Given the description of an element on the screen output the (x, y) to click on. 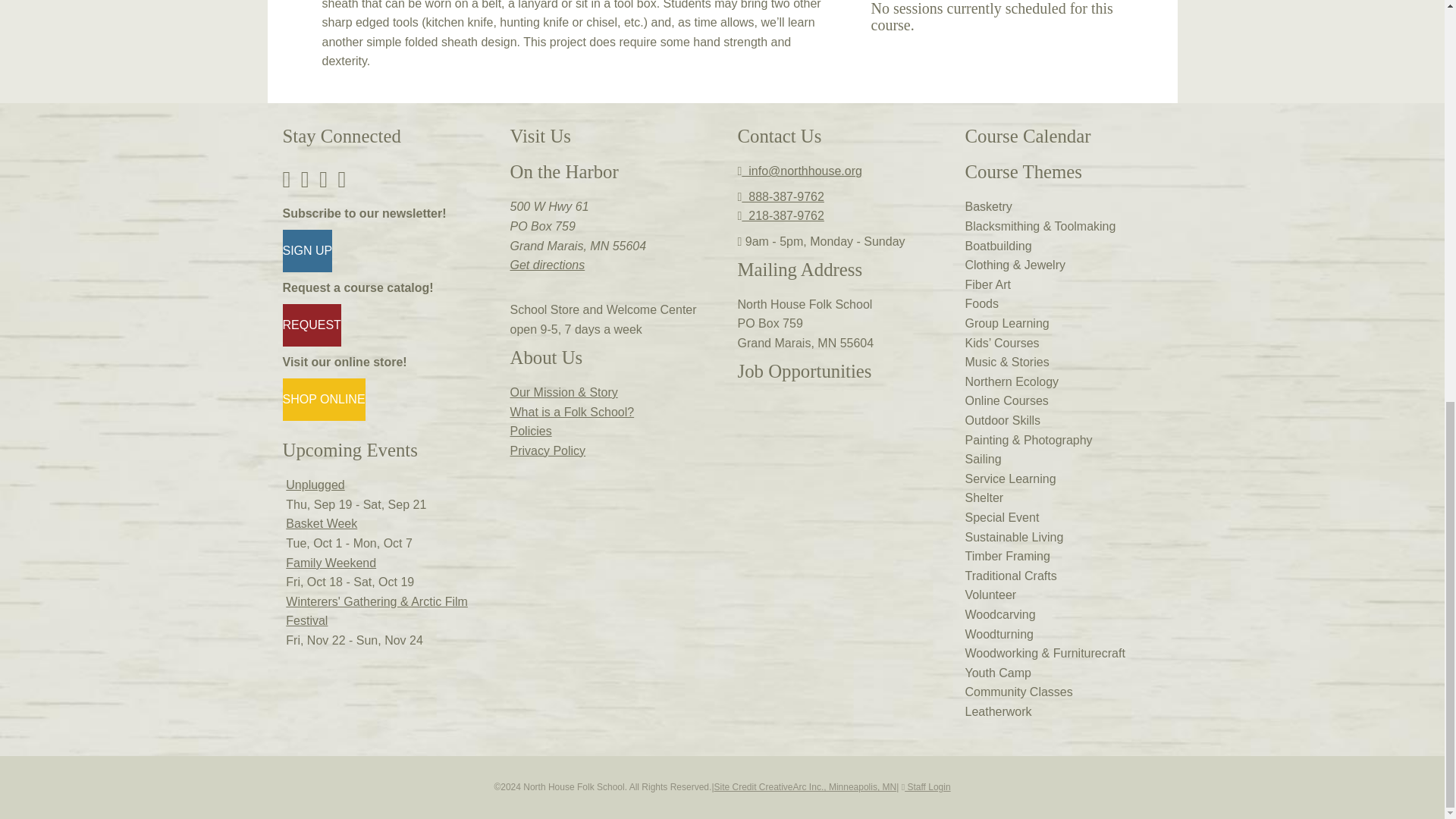
View event details for Basket Week (320, 522)
View event details for Unplugged (314, 484)
View event details for Family Weekend (330, 562)
